Given the description of an element on the screen output the (x, y) to click on. 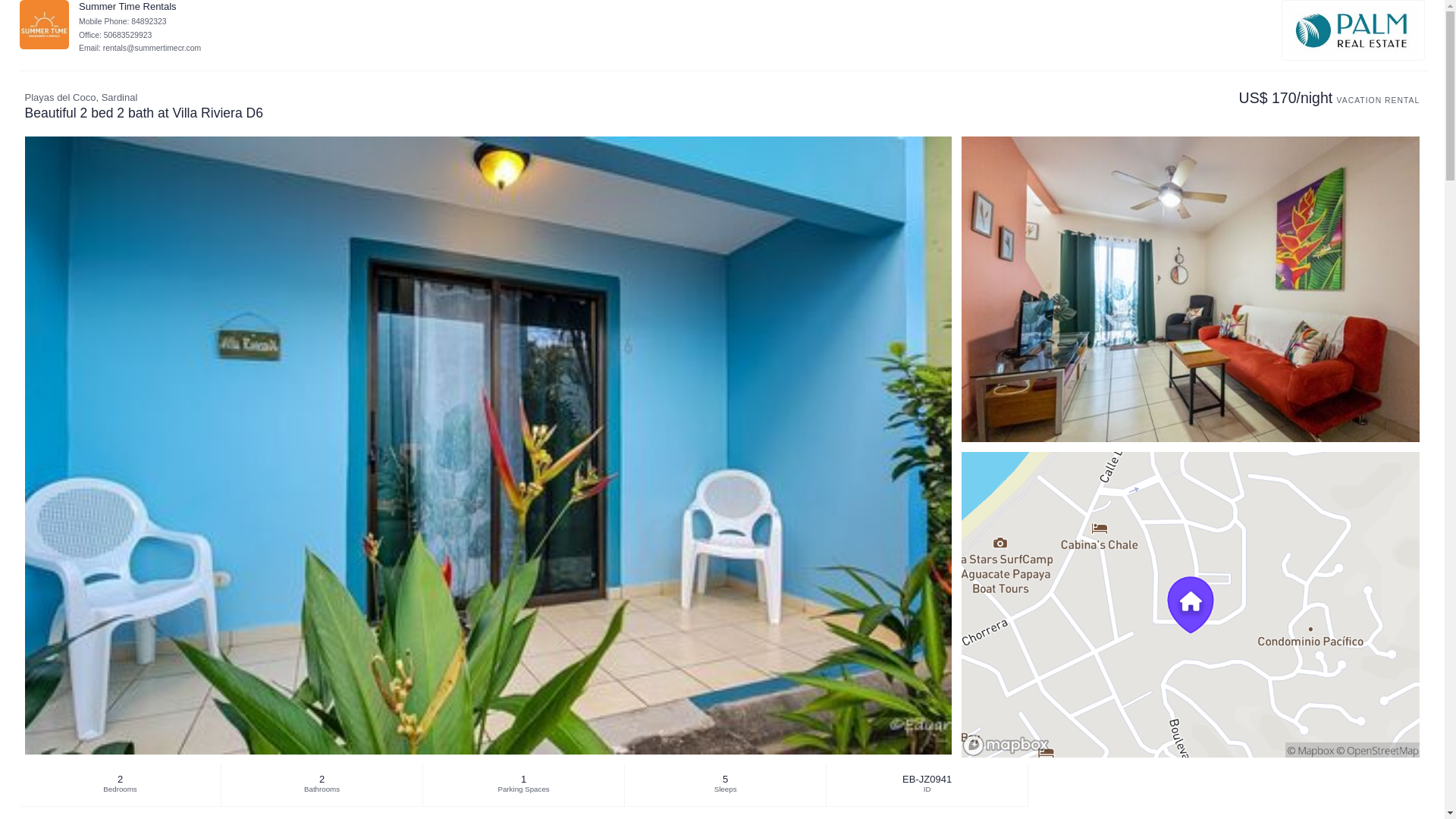
Summer Time Rentals (44, 24)
Palm Real Estate (1352, 30)
